Given the description of an element on the screen output the (x, y) to click on. 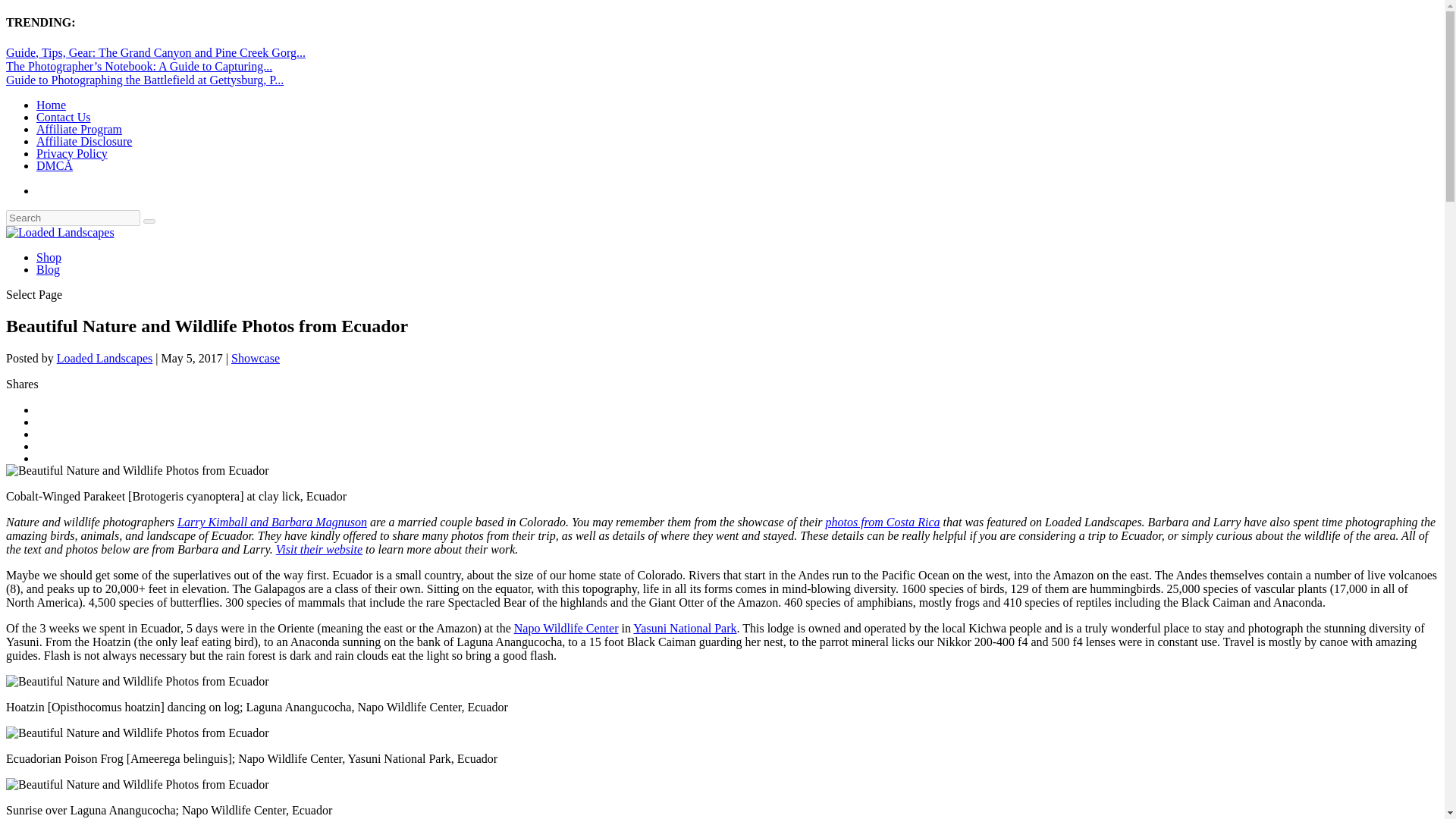
Contact Us (63, 116)
Yasuni National Park (684, 627)
Guide to Photographing the Battlefield at Gettysburg, P... (144, 79)
photos from Costa Rica (882, 521)
Blog (47, 269)
DMCA (54, 164)
Larry Kimball and Barbara Magnuson (271, 521)
Home (50, 104)
Privacy Policy (71, 153)
Affiliate Disclosure (84, 141)
